Given the description of an element on the screen output the (x, y) to click on. 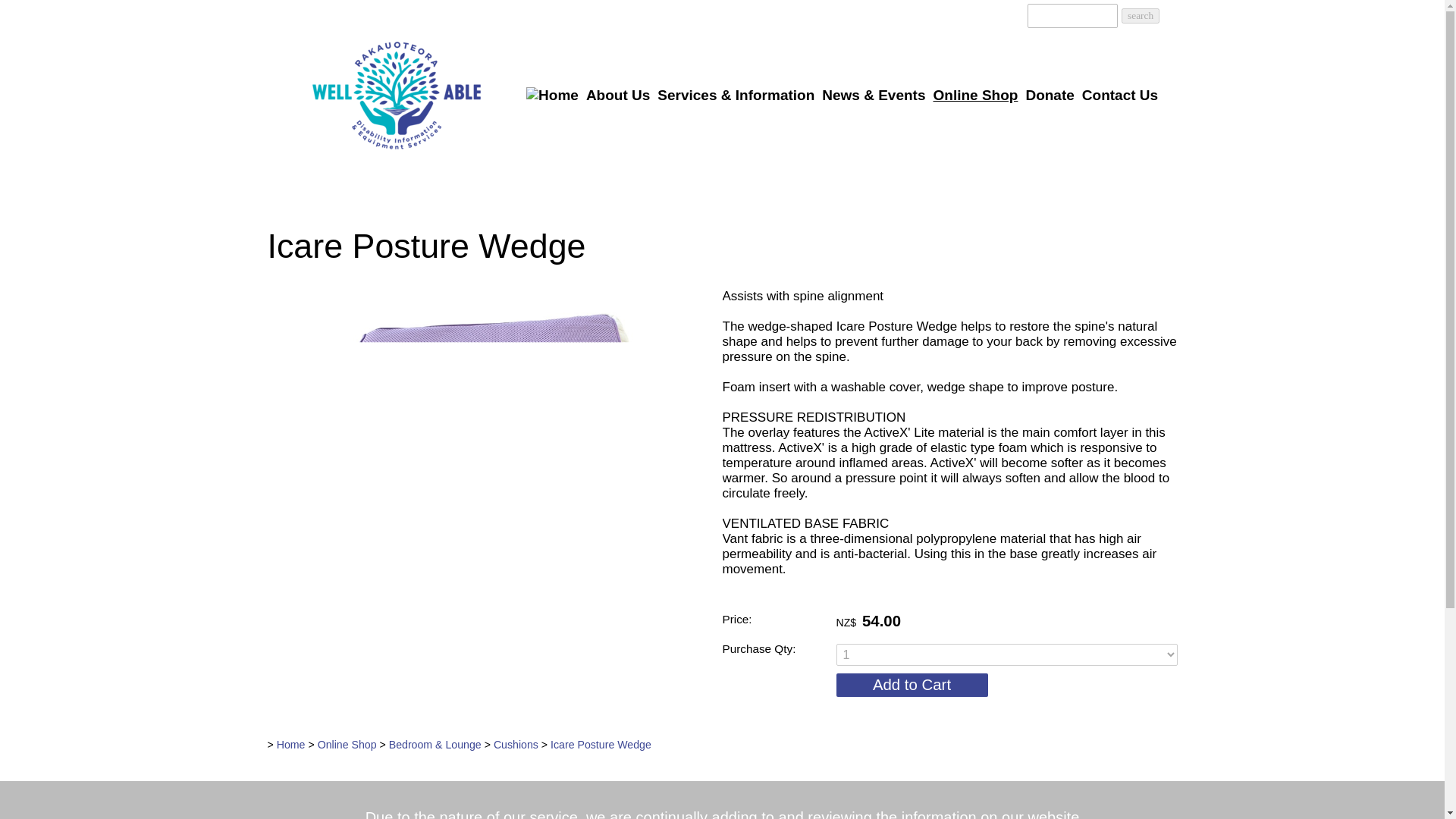
search (1139, 15)
About Us (617, 95)
Add to Cart (911, 684)
View Shopping Cart (1008, 13)
Online Shop (976, 95)
Phone Numbers and Contact Details (986, 13)
Icare Posture Wedge (484, 617)
